Given the description of an element on the screen output the (x, y) to click on. 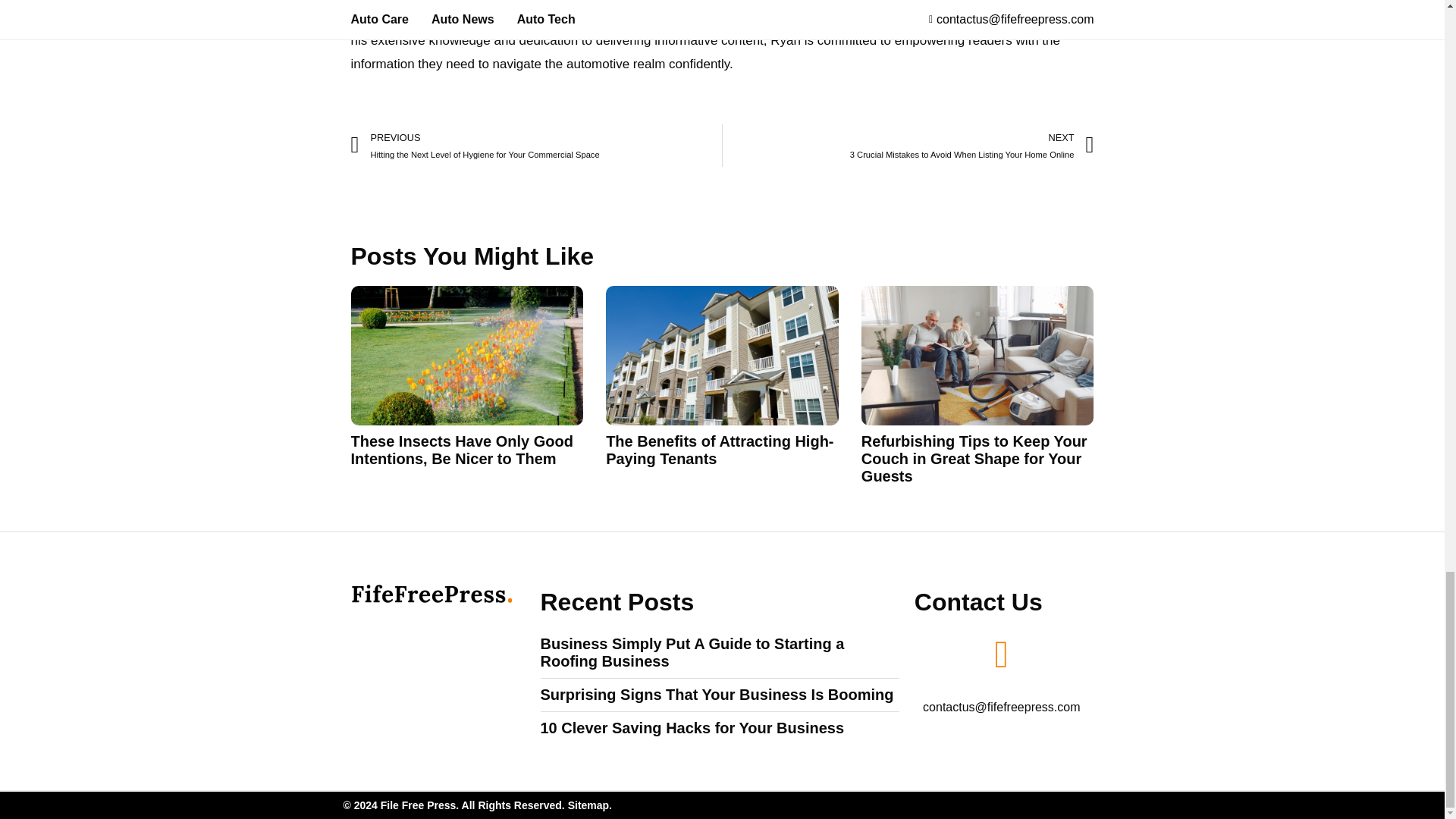
Business Simply Put A Guide to Starting a Roofing Business (692, 652)
10 Clever Saving Hacks for Your Business (692, 727)
The Benefits of Attracting High-Paying Tenants (718, 449)
These Insects Have Only Good Intentions, Be Nicer to Them (461, 449)
Sitemap. (589, 805)
Surprising Signs That Your Business Is Booming (716, 694)
